Given the description of an element on the screen output the (x, y) to click on. 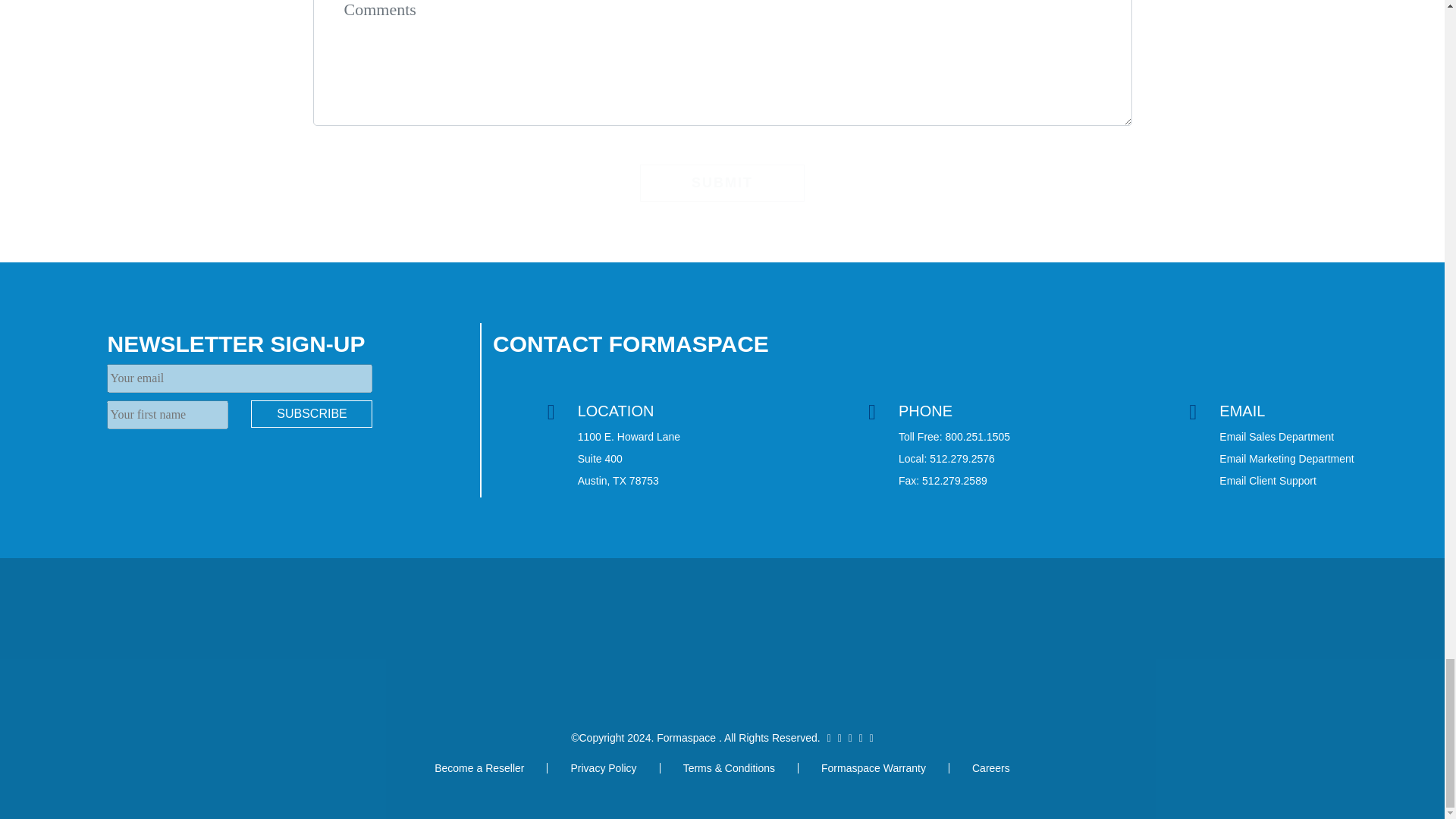
Subscribe (311, 413)
